Given the description of an element on the screen output the (x, y) to click on. 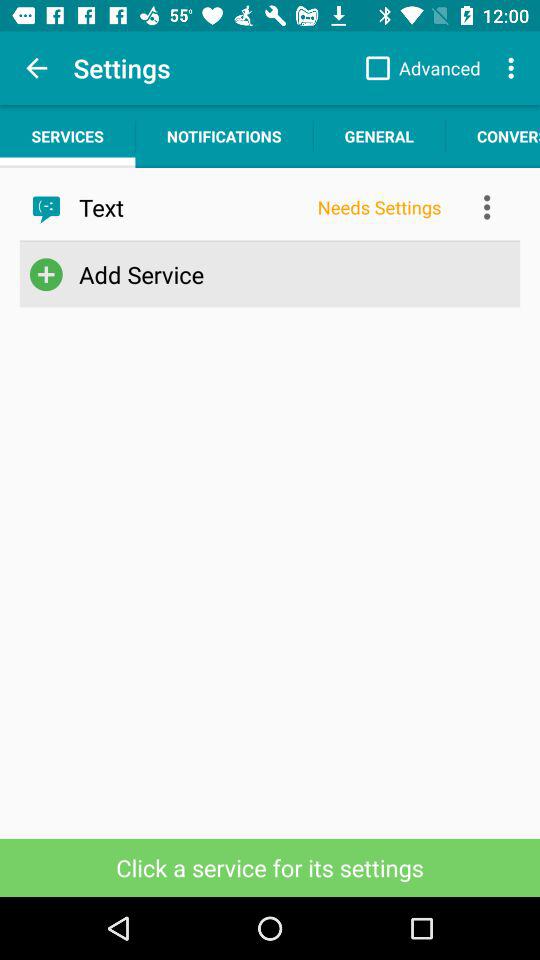
turn off advanced icon (418, 68)
